Given the description of an element on the screen output the (x, y) to click on. 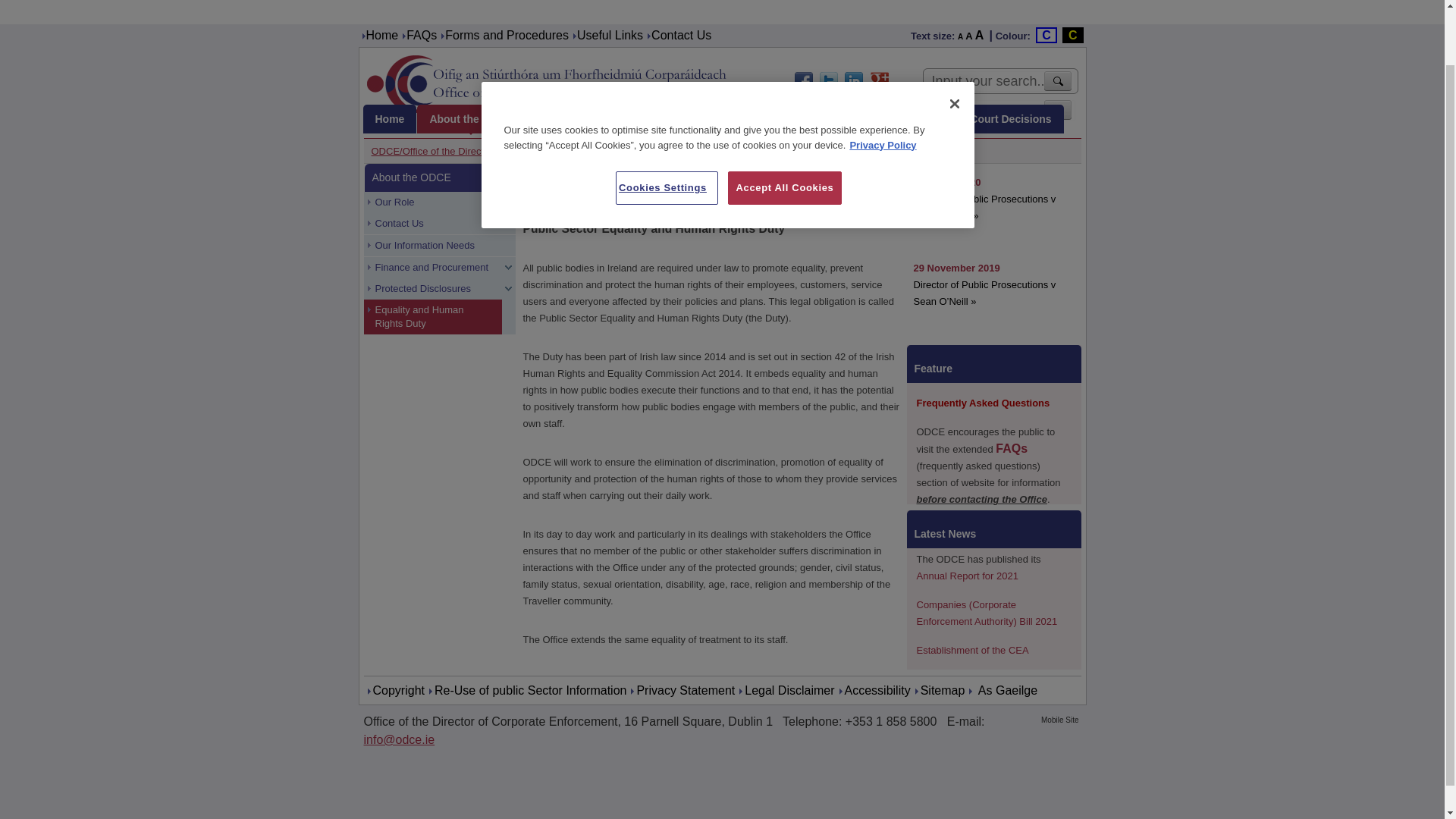
Our Role (433, 201)
Publications (774, 118)
Finance and Procurement (433, 267)
C (1072, 35)
C (1046, 35)
About the ODCE (470, 118)
Contact Us (433, 223)
FAQs (421, 34)
Home (381, 34)
Functions (562, 118)
Contact Us (680, 34)
Office of the Director of Corporate Enforcement (550, 82)
Equality and Human Rights Duty (780, 151)
Home (389, 118)
Useful Links (609, 34)
